Given the description of an element on the screen output the (x, y) to click on. 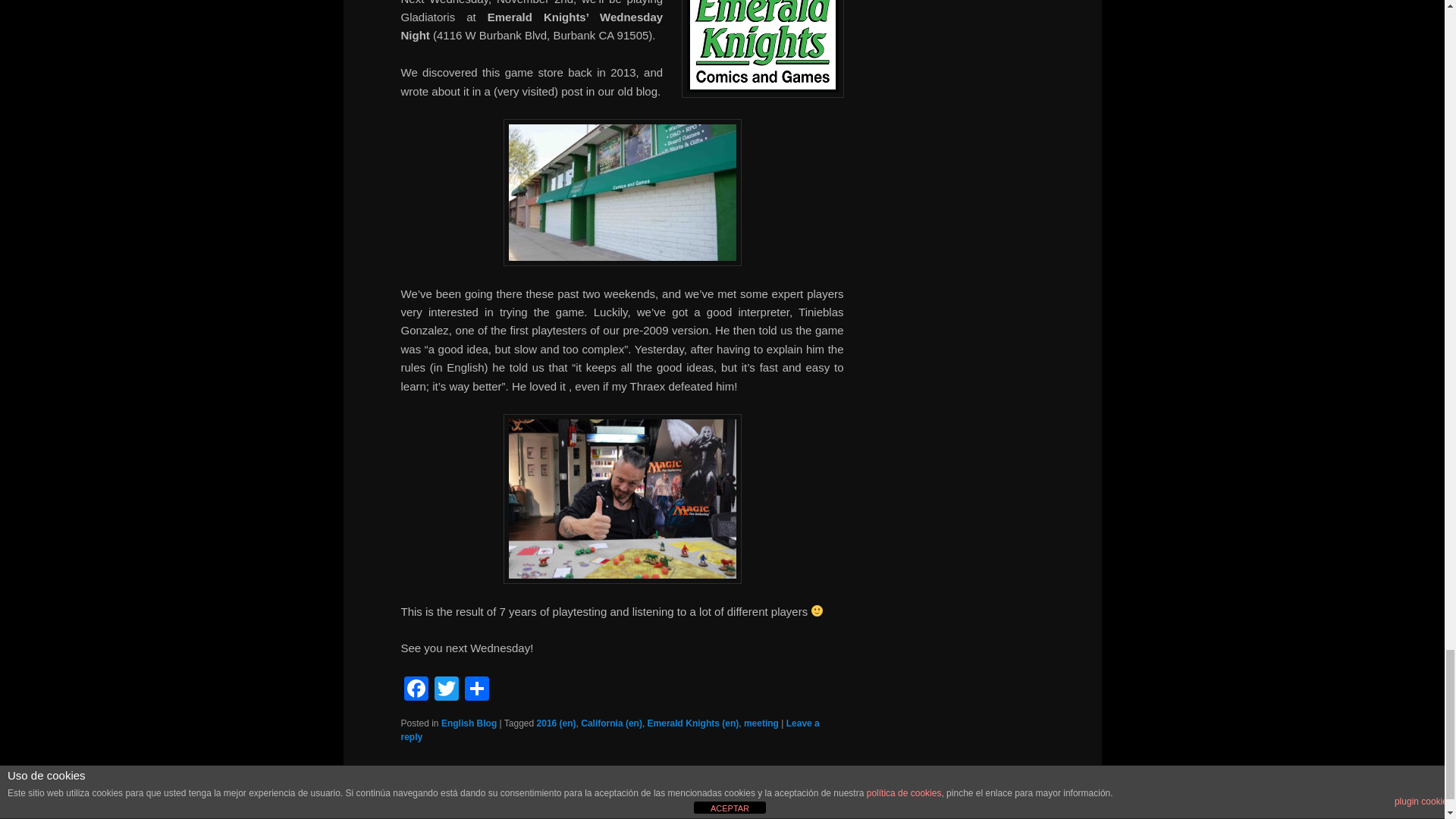
Facebook (415, 690)
Gladiatoris - Tinieblas en Emerald Knights (622, 498)
Twitter (445, 690)
English Blog (468, 723)
Twitter (445, 690)
Emerald Knights (622, 192)
Facebook (415, 690)
Emerald Knights (762, 48)
